Given the description of an element on the screen output the (x, y) to click on. 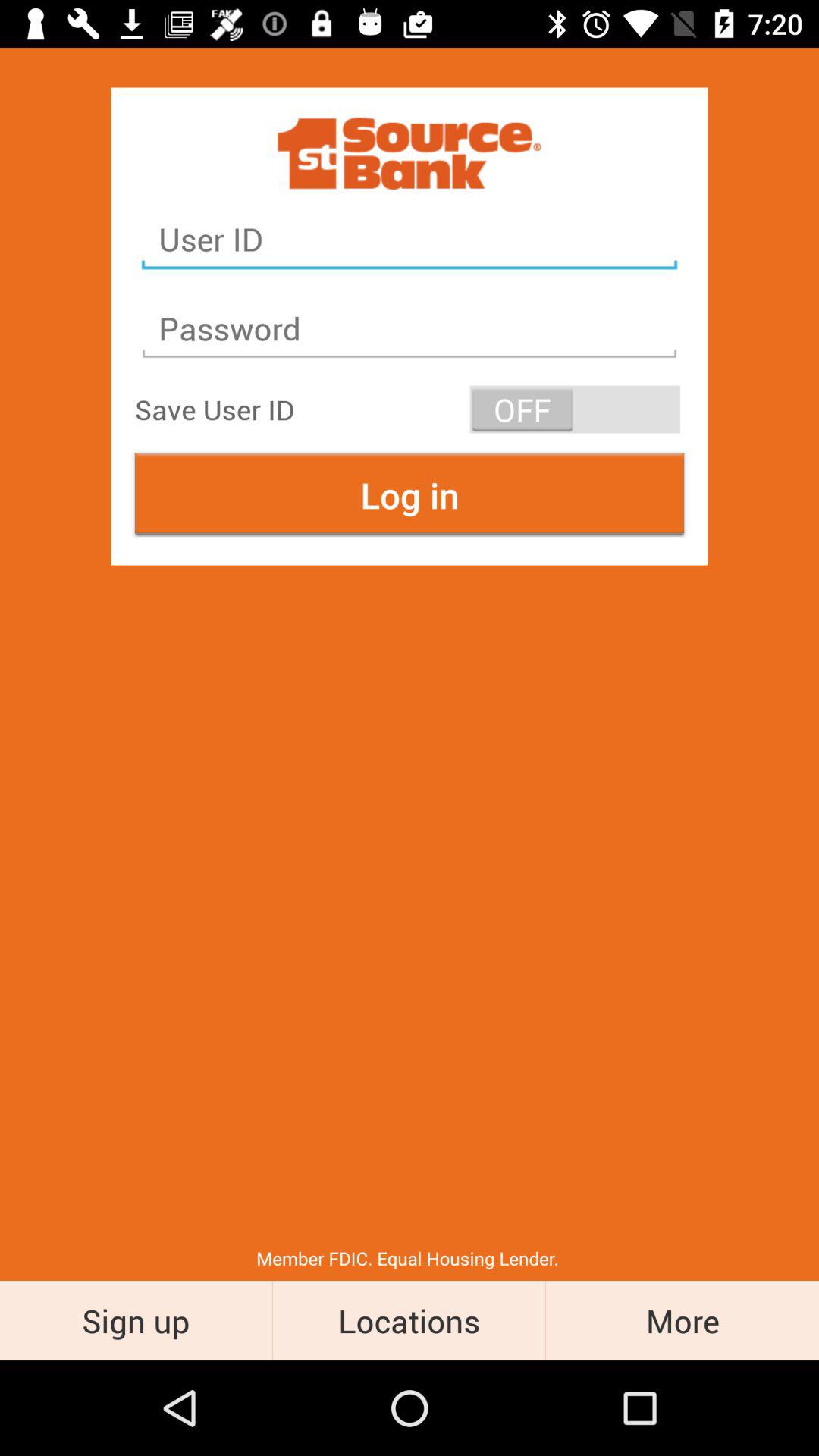
launch the log in at the center (409, 494)
